Given the description of an element on the screen output the (x, y) to click on. 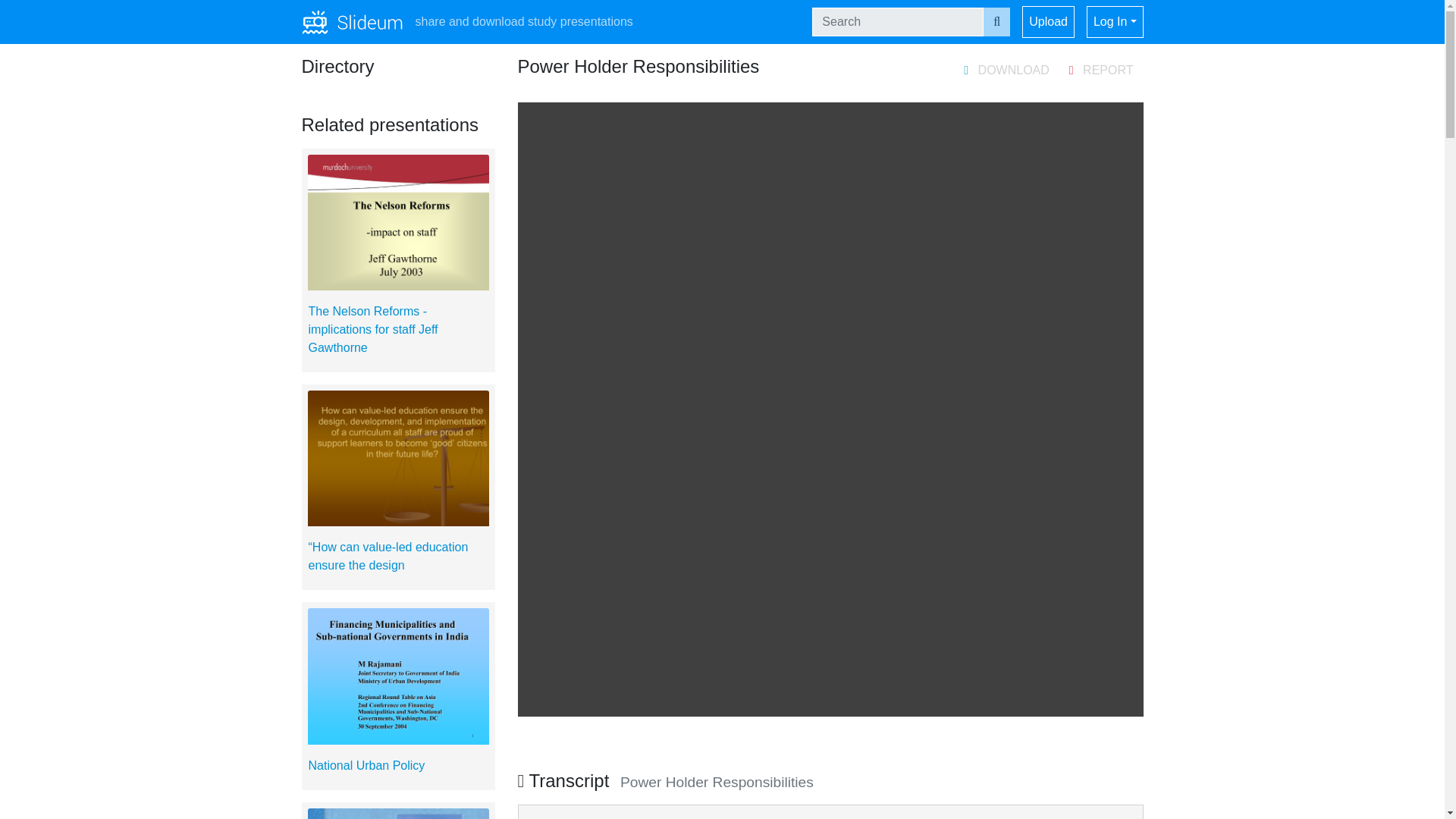
forbidden by owner (1006, 73)
National Urban Policy (366, 765)
DOWNLOAD (1006, 73)
Upload (1048, 21)
The Nelson Reforms -implications for staff Jeff Gawthorne (372, 328)
REPORT (1100, 73)
Log In (1114, 21)
